Given the description of an element on the screen output the (x, y) to click on. 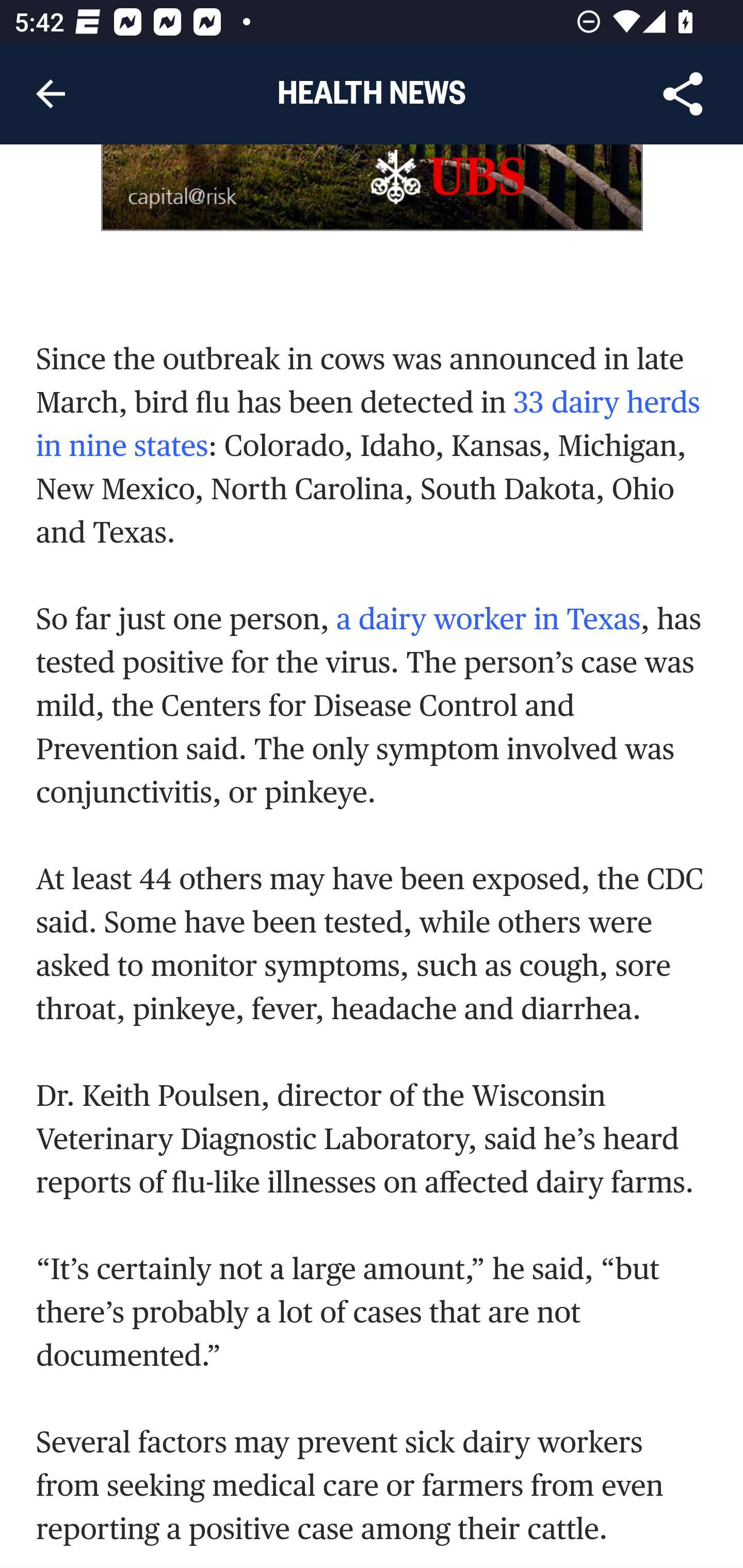
Navigate up (50, 93)
Share Article, button (683, 94)
33 dairy herds in nine states (368, 424)
a dairy worker in Texas (487, 618)
